Given the description of an element on the screen output the (x, y) to click on. 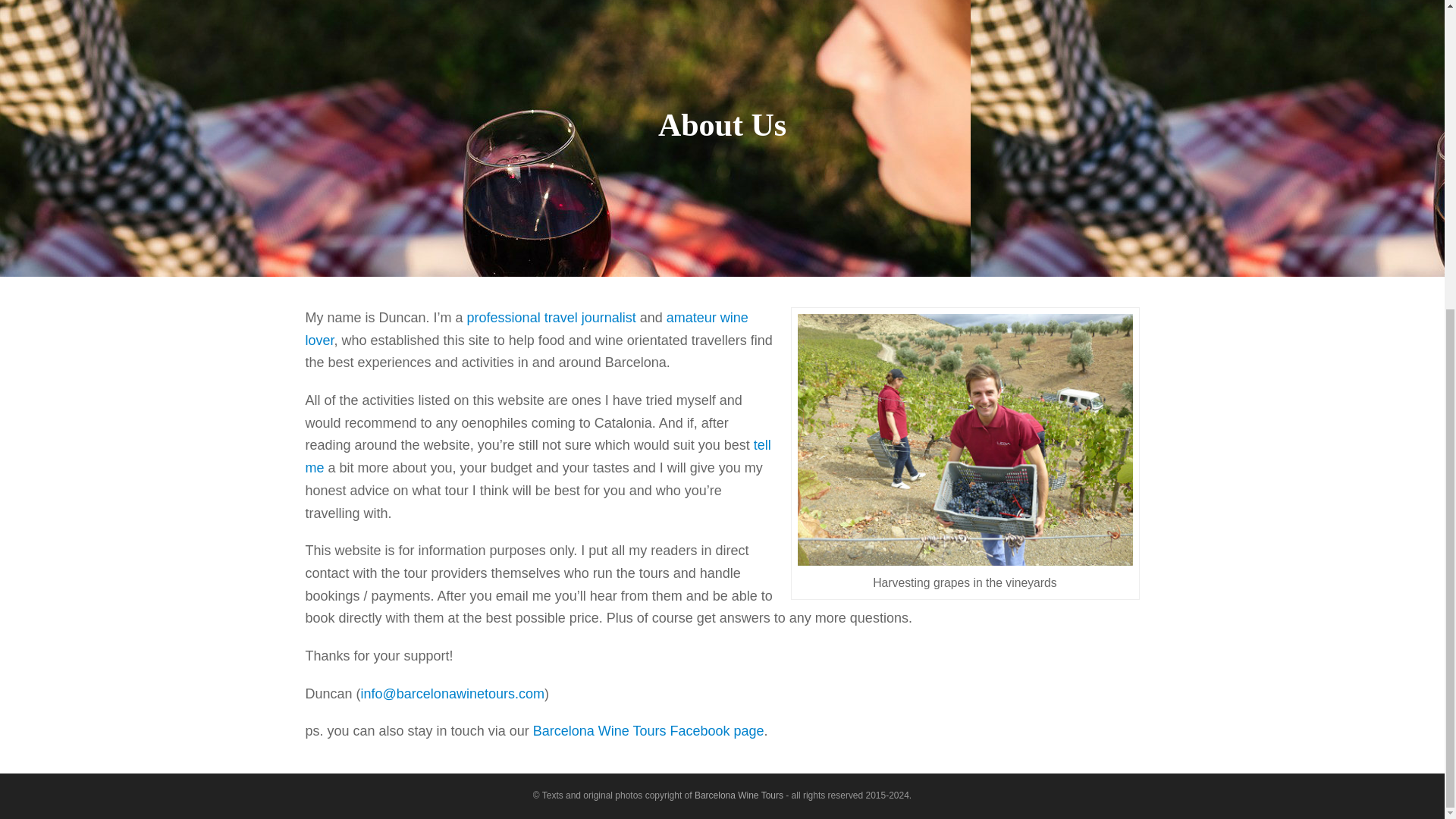
amateur wine lover (526, 329)
tell me (537, 456)
professional travel journalist (551, 317)
Barcelona Wine Tours Facebook page (648, 730)
Barcelona Wine Tours (738, 795)
